Given the description of an element on the screen output the (x, y) to click on. 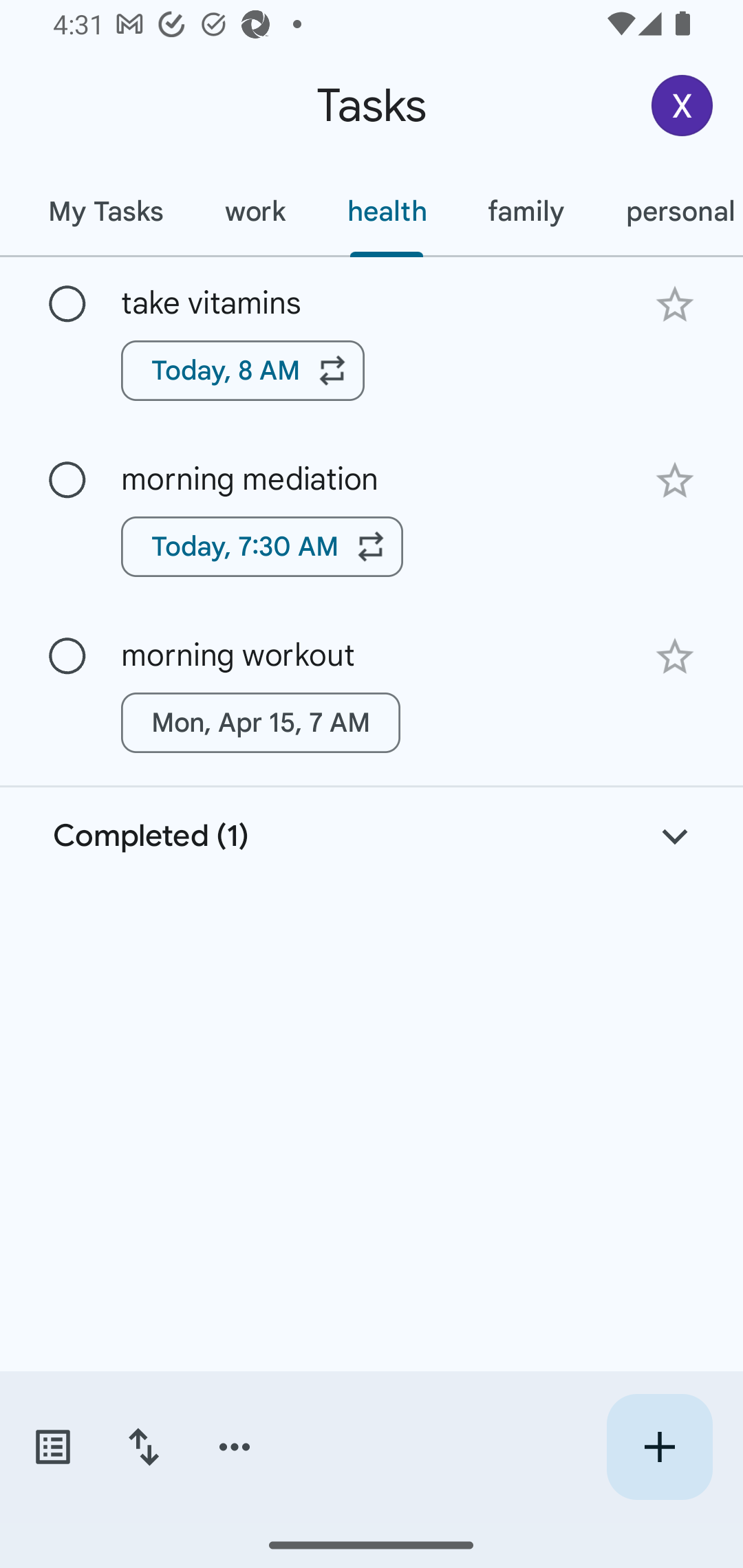
My Tasks (105, 211)
work (254, 211)
family (525, 211)
personal (669, 211)
Add star (674, 303)
Mark as complete (67, 304)
Today, 8 AM (242, 369)
Add star (674, 480)
Mark as complete (67, 480)
Today, 7:30 AM (262, 546)
Add star (674, 656)
Mark as complete (67, 655)
Mon, Apr 15, 7 AM (260, 722)
Completed (1) (371, 836)
Switch task lists (52, 1447)
Create new task (659, 1446)
Change sort order (143, 1446)
More options (234, 1446)
